Given the description of an element on the screen output the (x, y) to click on. 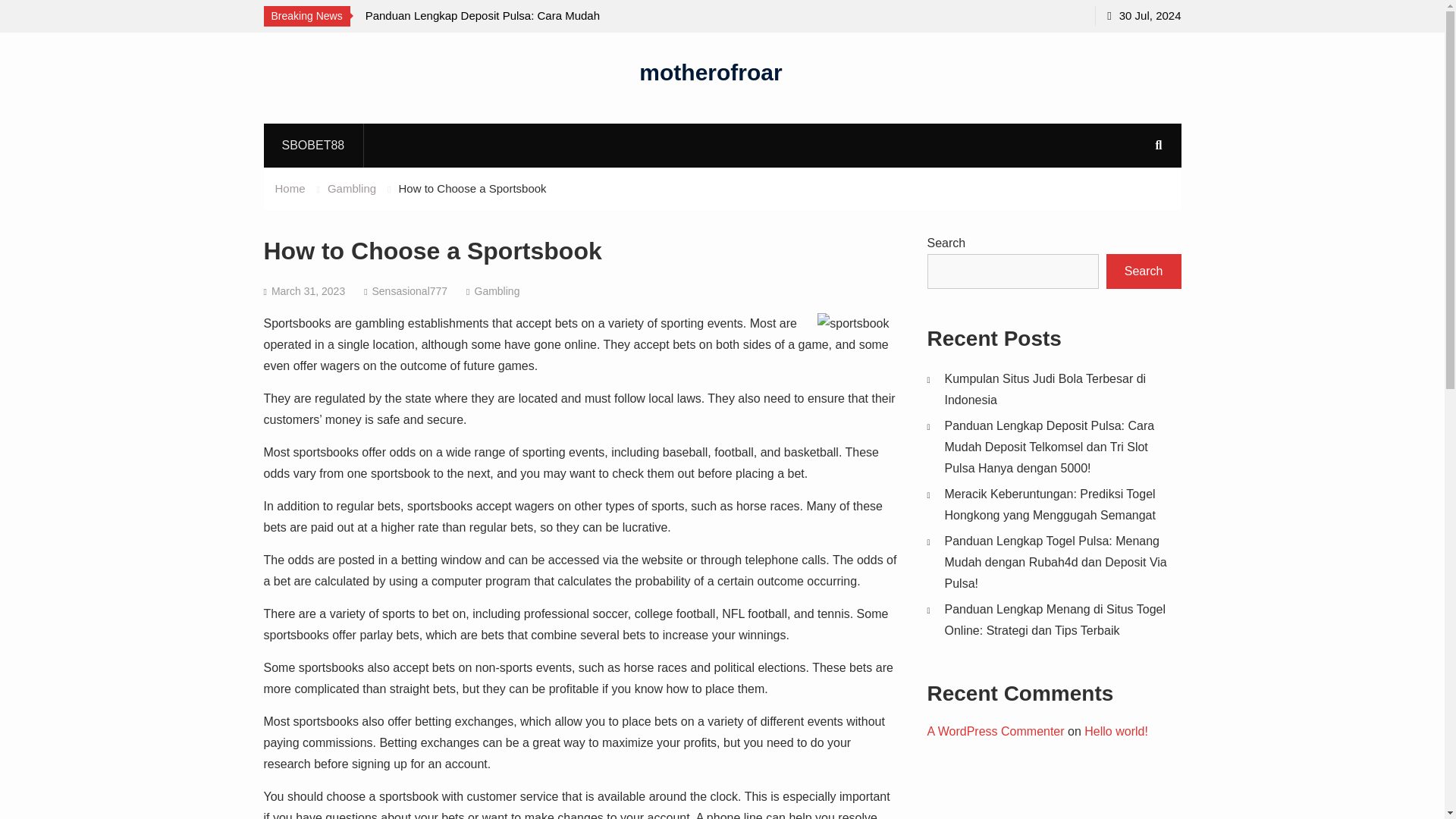
Sensasional777 (408, 291)
Kumpulan Situs Judi Bola Terbesar di Indonesia (1045, 389)
Gambling (351, 187)
March 31, 2023 (307, 291)
Home (289, 187)
motherofroar (710, 71)
Gambling (496, 291)
Hello world! (1116, 730)
SBOBET88 (313, 144)
Search (1143, 271)
